Given the description of an element on the screen output the (x, y) to click on. 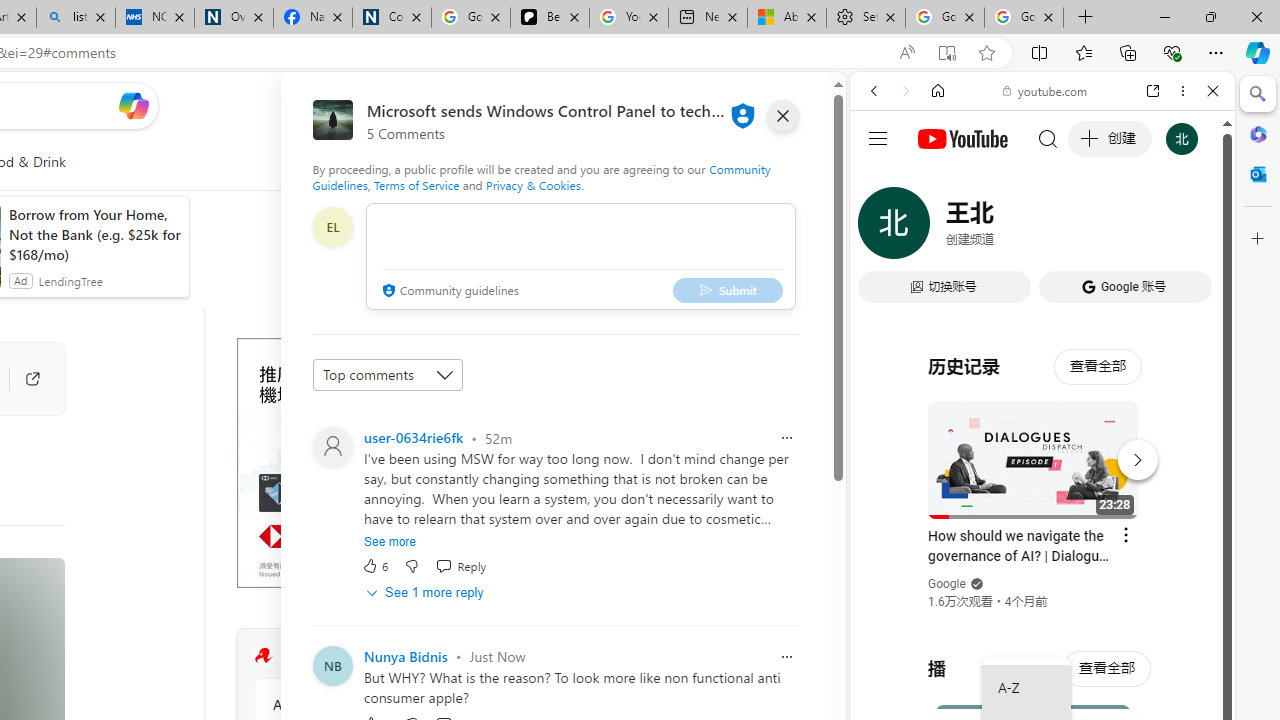
Search Filter, WEB (882, 228)
user-0634rie6fk (413, 437)
Personalize (488, 162)
Community guidelines (448, 291)
Privacy & Cookies (534, 184)
LendingTree (70, 280)
comment-box (581, 256)
Borrow from Your Home, Not the Bank (e.g. $25k for $168/mo) (93, 234)
Cookies (392, 17)
